Given the description of an element on the screen output the (x, y) to click on. 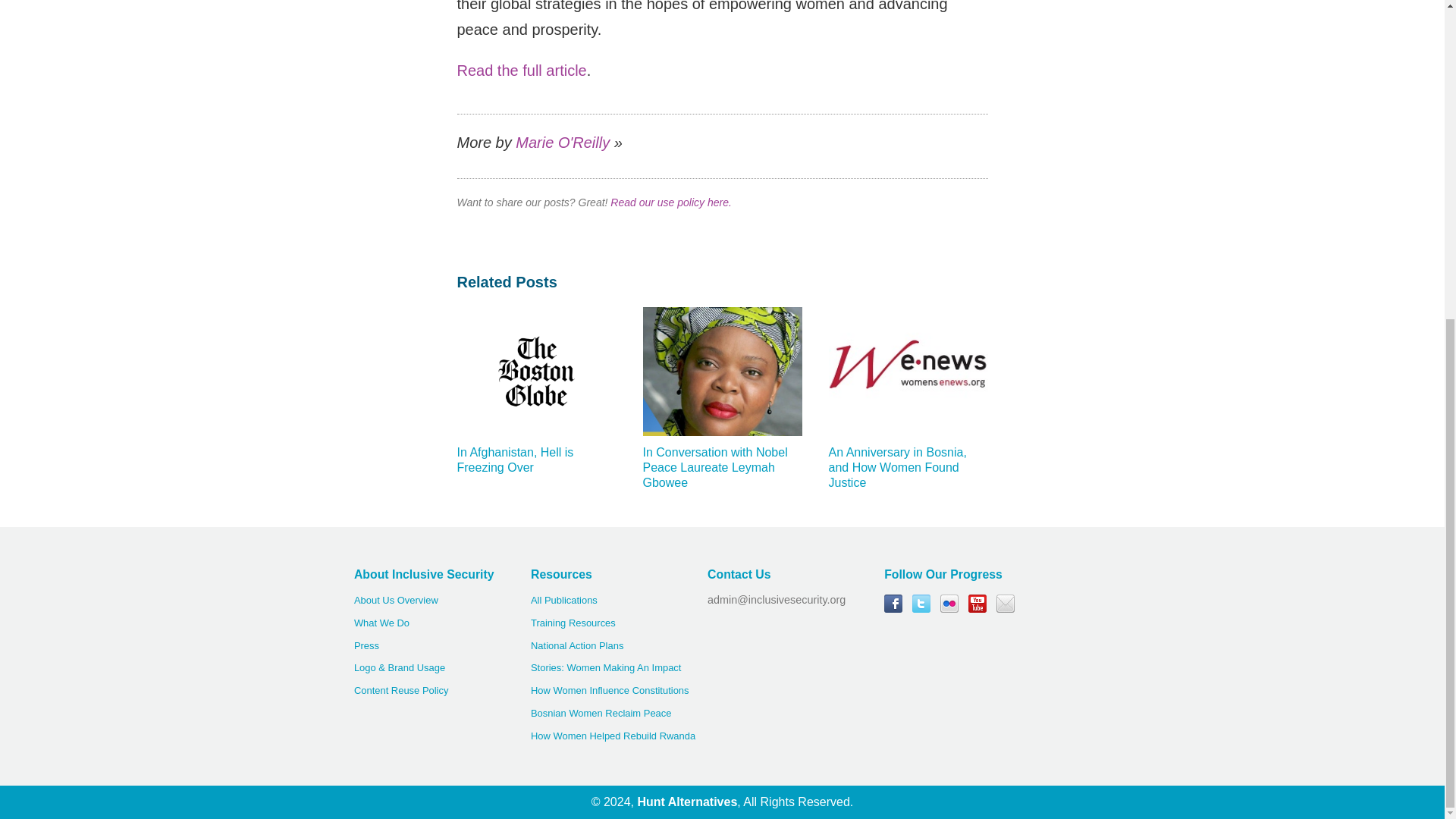
Posts by Marie O'Reilly (562, 142)
